Given the description of an element on the screen output the (x, y) to click on. 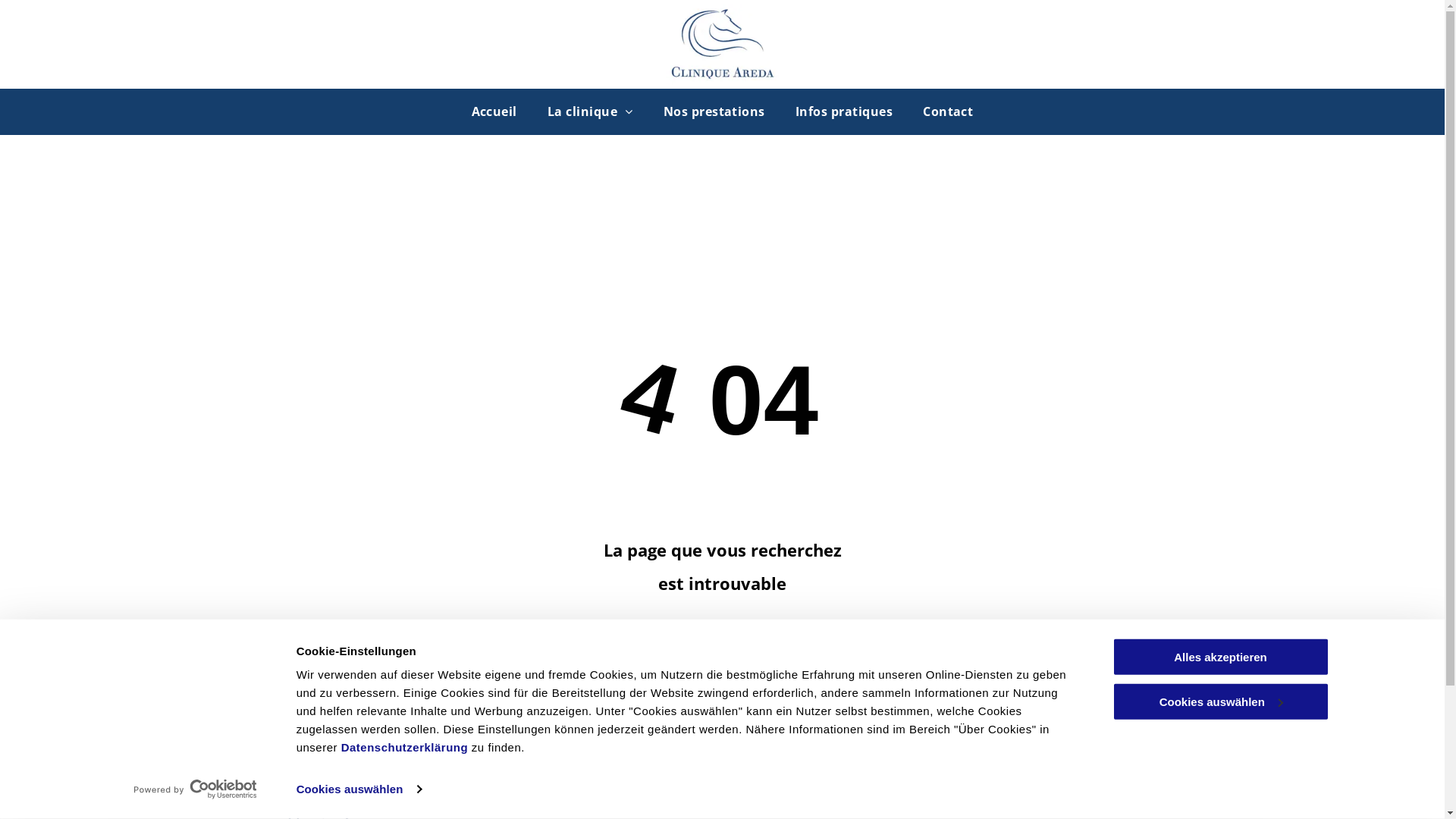
Nos prestations Element type: text (714, 111)
Alles akzeptieren Element type: text (1219, 656)
Infos pratiques Element type: text (843, 111)
Contact Element type: text (947, 111)
Accueil Element type: text (494, 111)
La clinique Element type: text (590, 111)
